Given the description of an element on the screen output the (x, y) to click on. 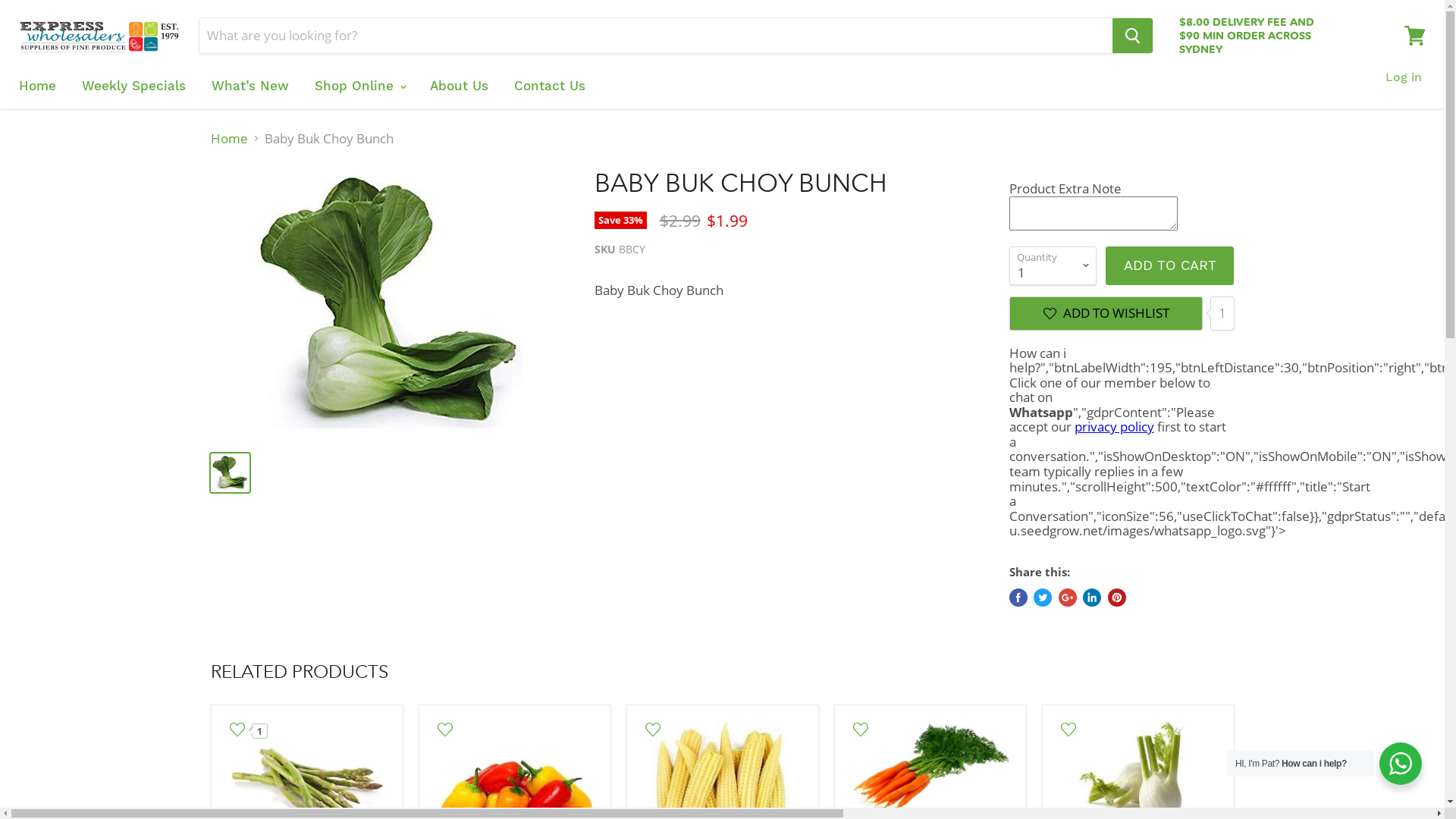
Home Element type: text (228, 138)
Share on Facebook Element type: text (1017, 597)
Share on LinkedIn Element type: text (1091, 597)
privacy policy Element type: text (1113, 426)
ADD TO WISHLIST Element type: text (1104, 313)
ADD TO CART Element type: text (1169, 265)
Add to wishlist Element type: hover (651, 729)
Log in Element type: text (1403, 76)
Share on Google+ Element type: text (1067, 597)
Tweet on Twitter Element type: text (1042, 597)
Add to wishlist Element type: hover (444, 729)
About Us Element type: text (458, 85)
Add to wishlist Element type: hover (859, 729)
Shop Online Element type: text (359, 85)
Contact Us Element type: text (549, 85)
Add to wishlist Element type: hover (236, 729)
Add to wishlist Element type: hover (1067, 729)
Pin on Pinterest Element type: text (1116, 597)
Home Element type: text (37, 85)
Weekly Specials Element type: text (133, 85)
View cart Element type: text (1414, 35)
